Given the description of an element on the screen output the (x, y) to click on. 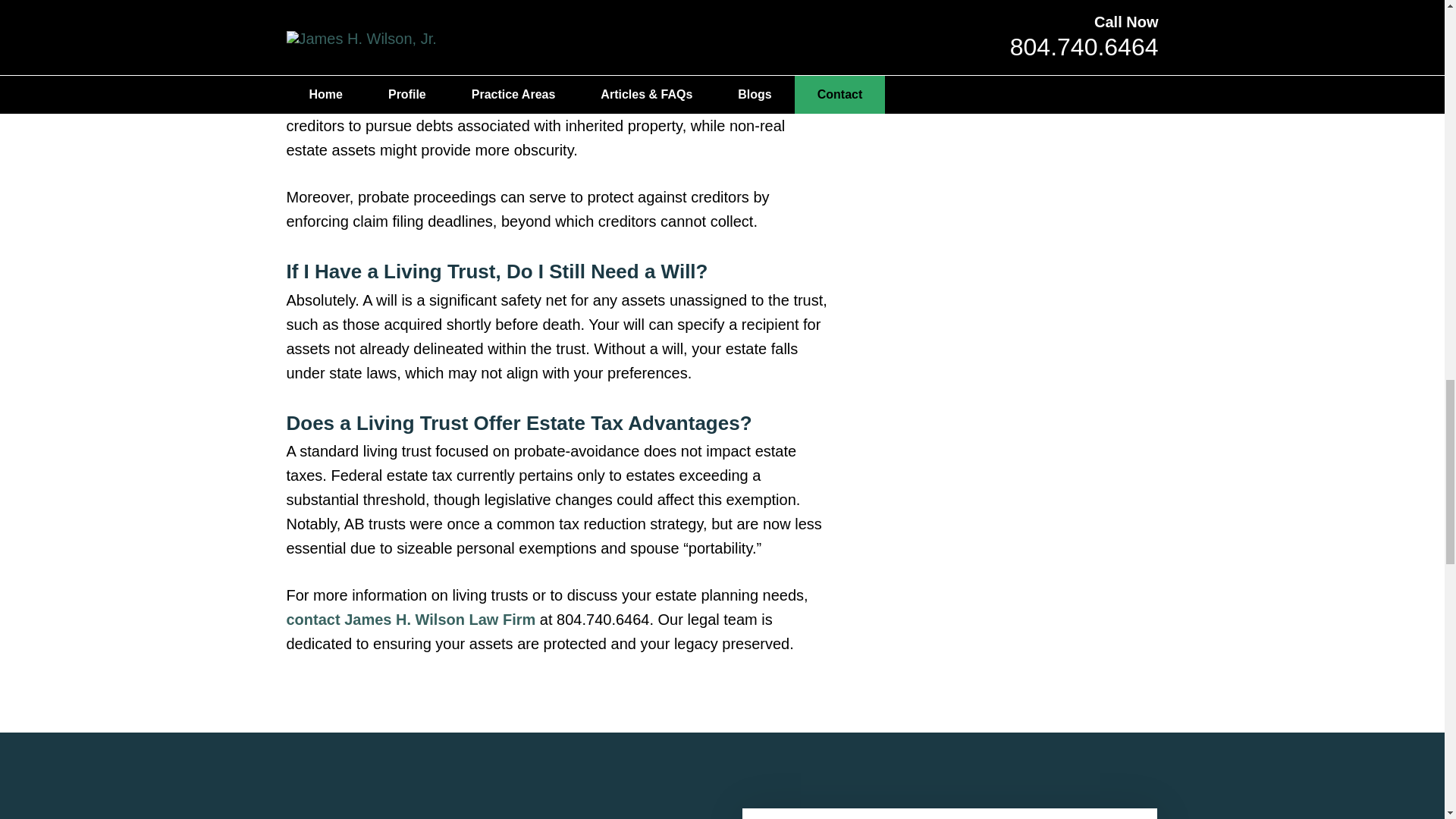
contact James H. Wilson Law Firm (410, 619)
